Given the description of an element on the screen output the (x, y) to click on. 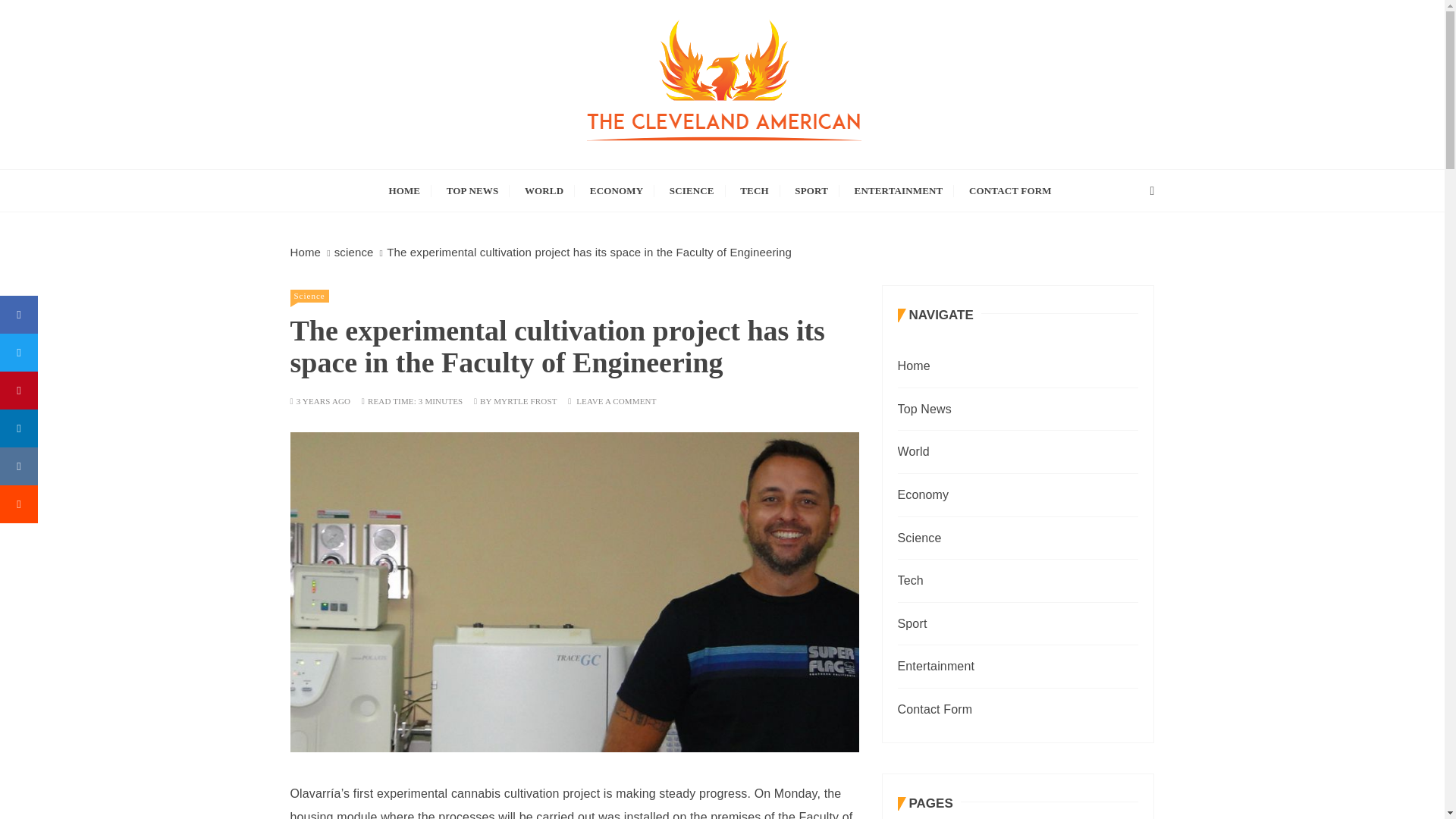
Science (309, 295)
SPORT (811, 190)
ENTERTAINMENT (899, 190)
Home (304, 251)
MYRTLE FROST (524, 401)
SCIENCE (691, 190)
TOP NEWS (473, 190)
WORLD (544, 190)
CONTACT FORM (1010, 190)
TECH (753, 190)
TheClevelandAmerican (491, 179)
HOME (403, 190)
LEAVE A COMMENT (616, 401)
